Given the description of an element on the screen output the (x, y) to click on. 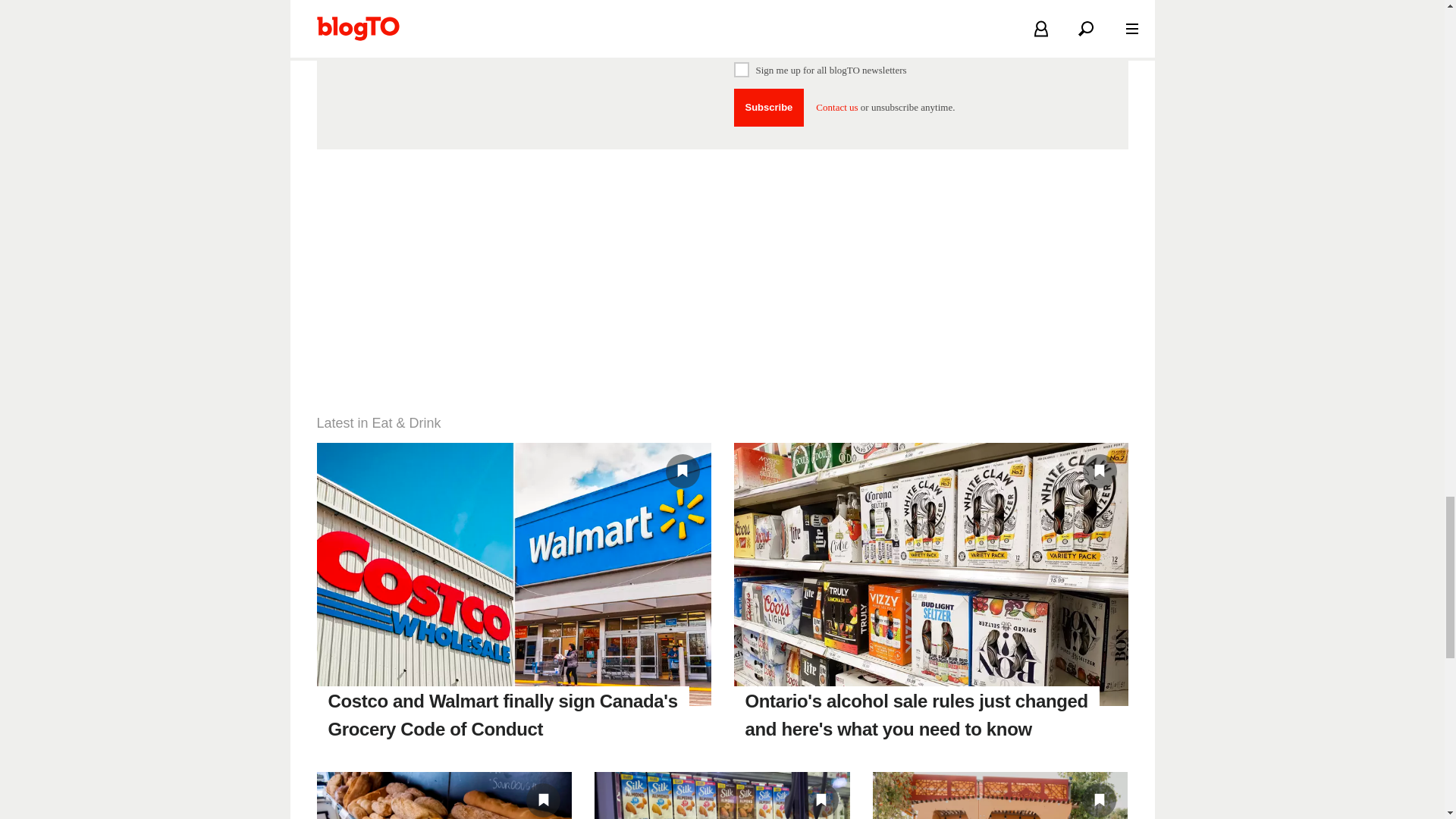
Subscribe (769, 107)
